Given the description of an element on the screen output the (x, y) to click on. 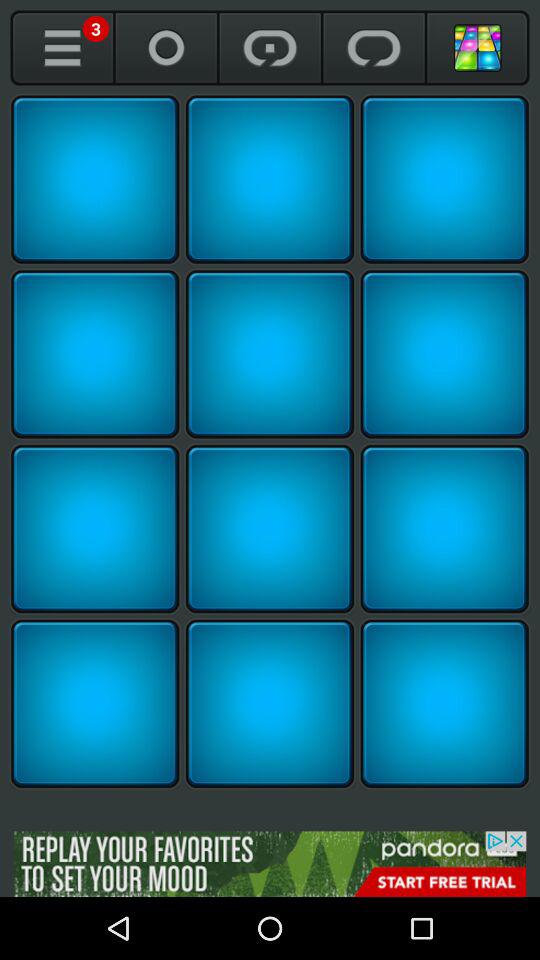
select square (269, 354)
